Given the description of an element on the screen output the (x, y) to click on. 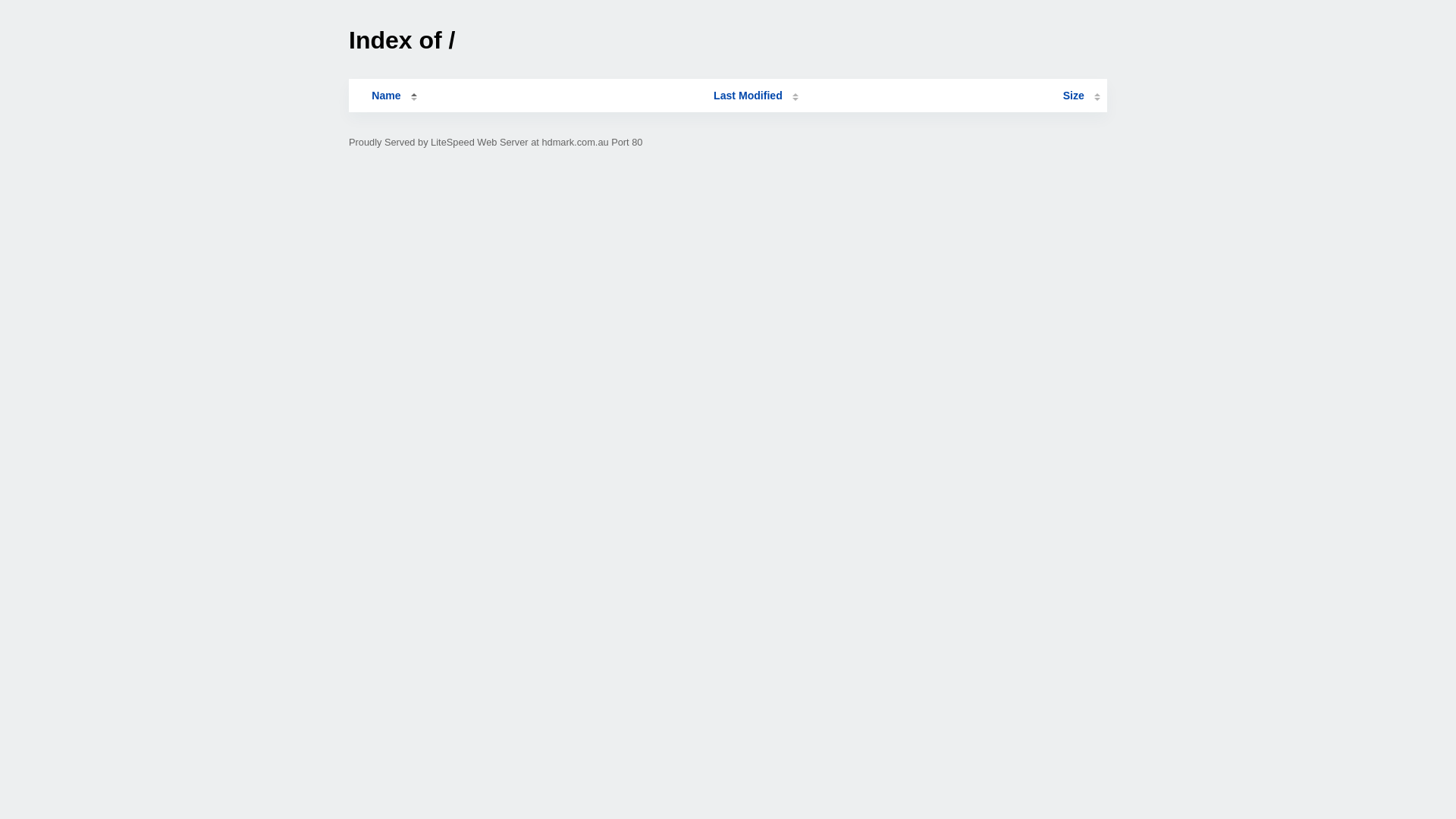
Name Element type: text (385, 95)
Last Modified Element type: text (755, 95)
Size Element type: text (1081, 95)
